Given the description of an element on the screen output the (x, y) to click on. 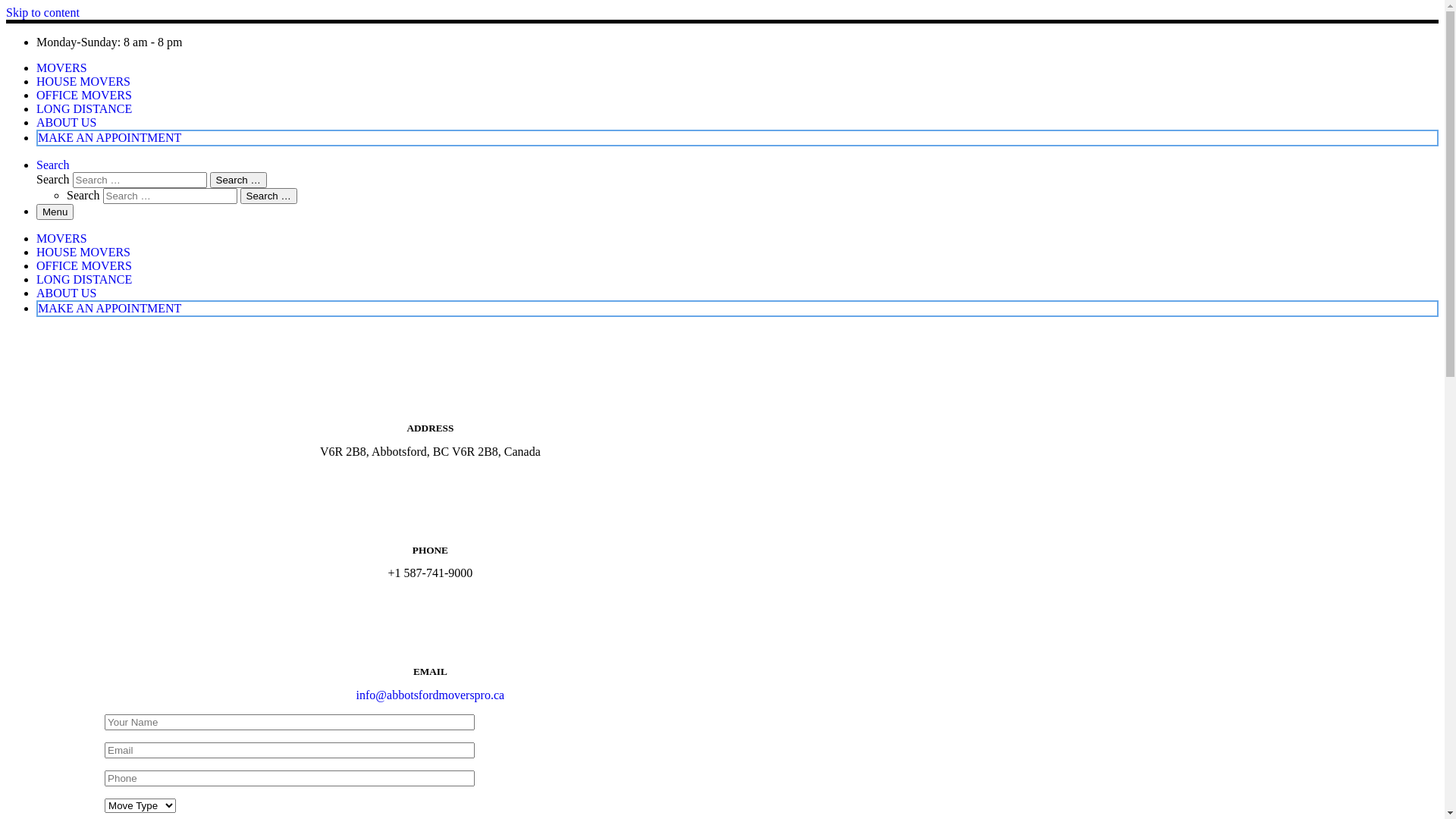
ABOUT US Element type: text (66, 122)
OFFICE MOVERS Element type: text (83, 94)
MOVERS Element type: text (61, 238)
MOVERS Element type: text (61, 67)
LONG DISTANCE Element type: text (83, 108)
Skip to content Element type: text (42, 12)
MAKE AN APPOINTMENT Element type: text (109, 137)
LONG DISTANCE Element type: text (83, 279)
OFFICE MOVERS Element type: text (83, 265)
ABOUT US Element type: text (66, 292)
MAKE AN APPOINTMENT Element type: text (109, 307)
info@abbotsfordmoverspro.ca Element type: text (430, 694)
HOUSE MOVERS Element type: text (83, 81)
Menu Element type: text (54, 211)
Search Element type: text (52, 164)
HOUSE MOVERS Element type: text (83, 251)
